Given the description of an element on the screen output the (x, y) to click on. 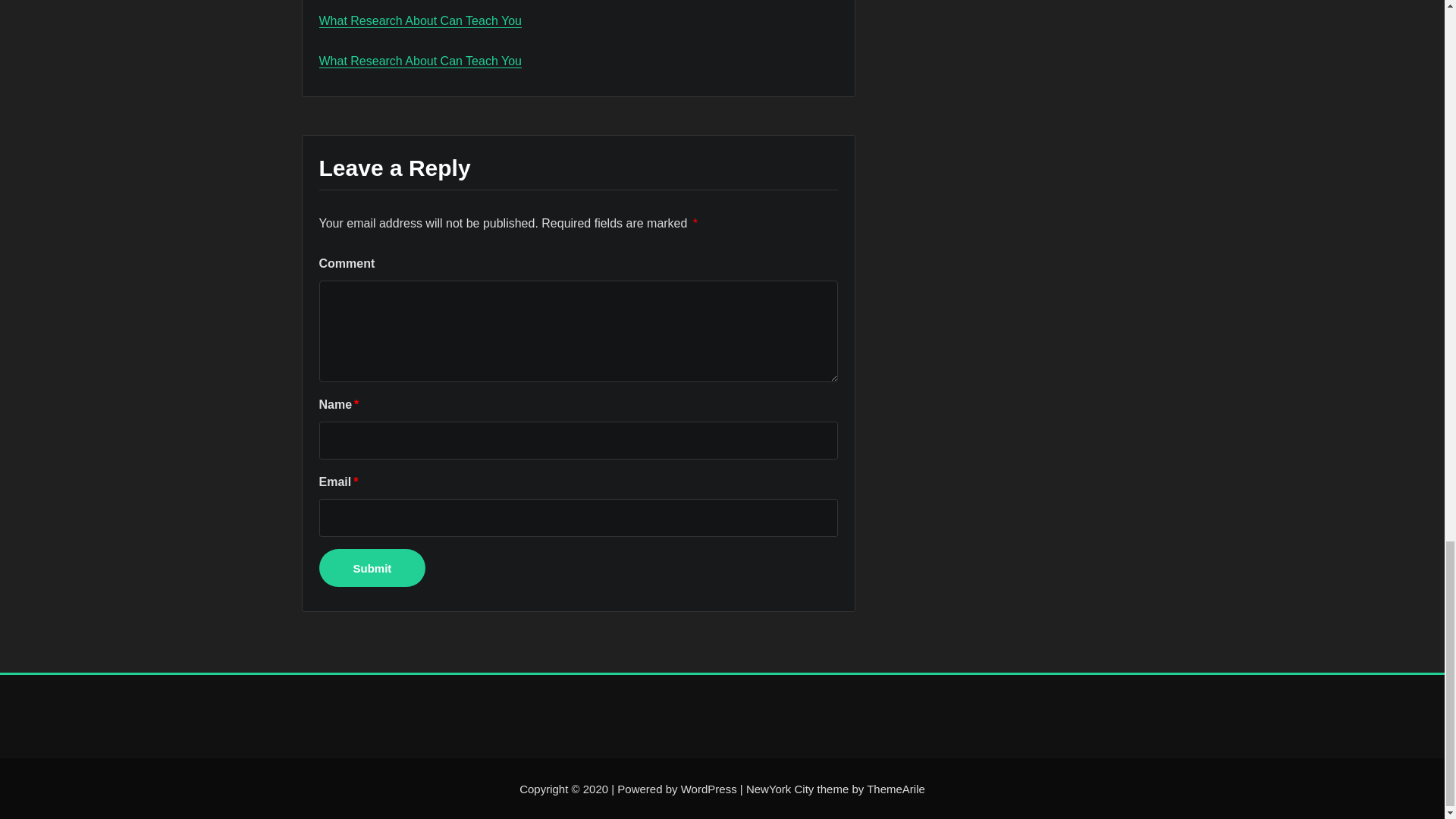
What Research About Can Teach You (419, 60)
Submit (371, 567)
What Research About Can Teach You (419, 20)
Submit (371, 567)
